Given the description of an element on the screen output the (x, y) to click on. 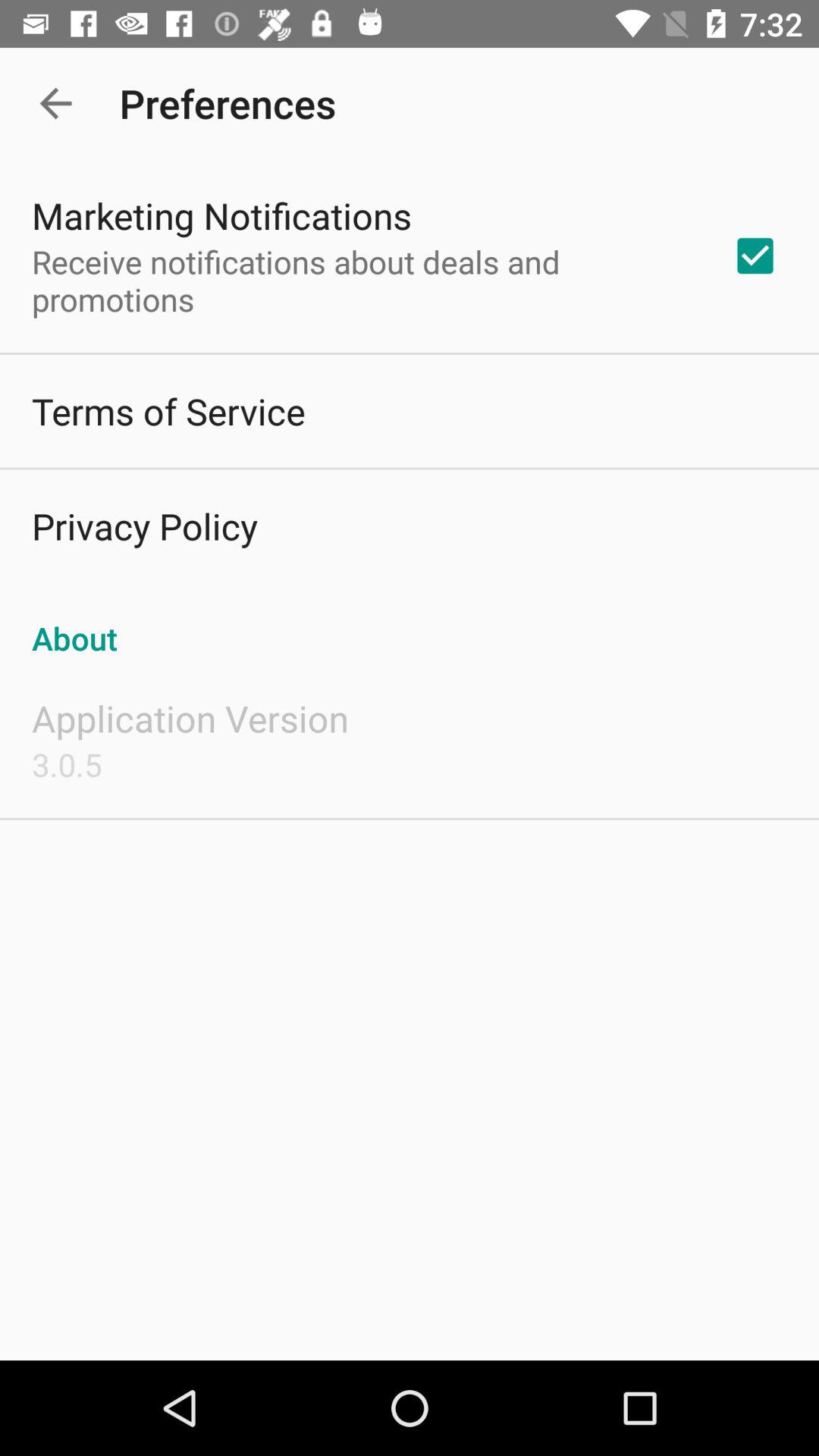
turn on 3.0.5 item (66, 764)
